Given the description of an element on the screen output the (x, y) to click on. 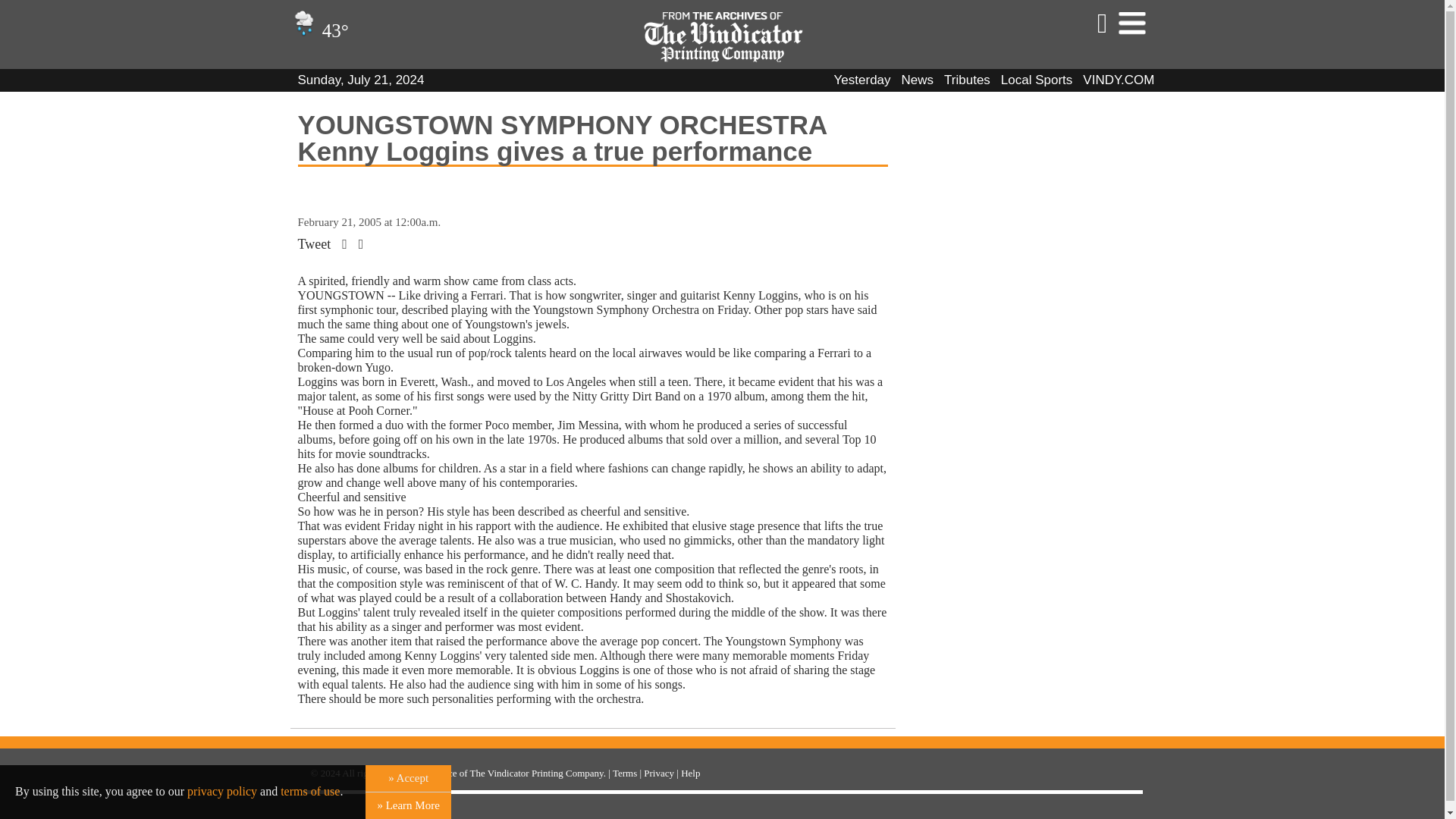
Yesterday (862, 79)
The Vindicator Printing Company (537, 772)
Terms (624, 772)
terms of use (310, 790)
Sunday, July 21, 2024 (360, 79)
privacy policy (222, 790)
News (917, 79)
Local Sports (1037, 79)
Tweet (313, 243)
Help (690, 772)
Tributes (966, 79)
Privacy (658, 772)
VINDY.COM (1118, 79)
